Given the description of an element on the screen output the (x, y) to click on. 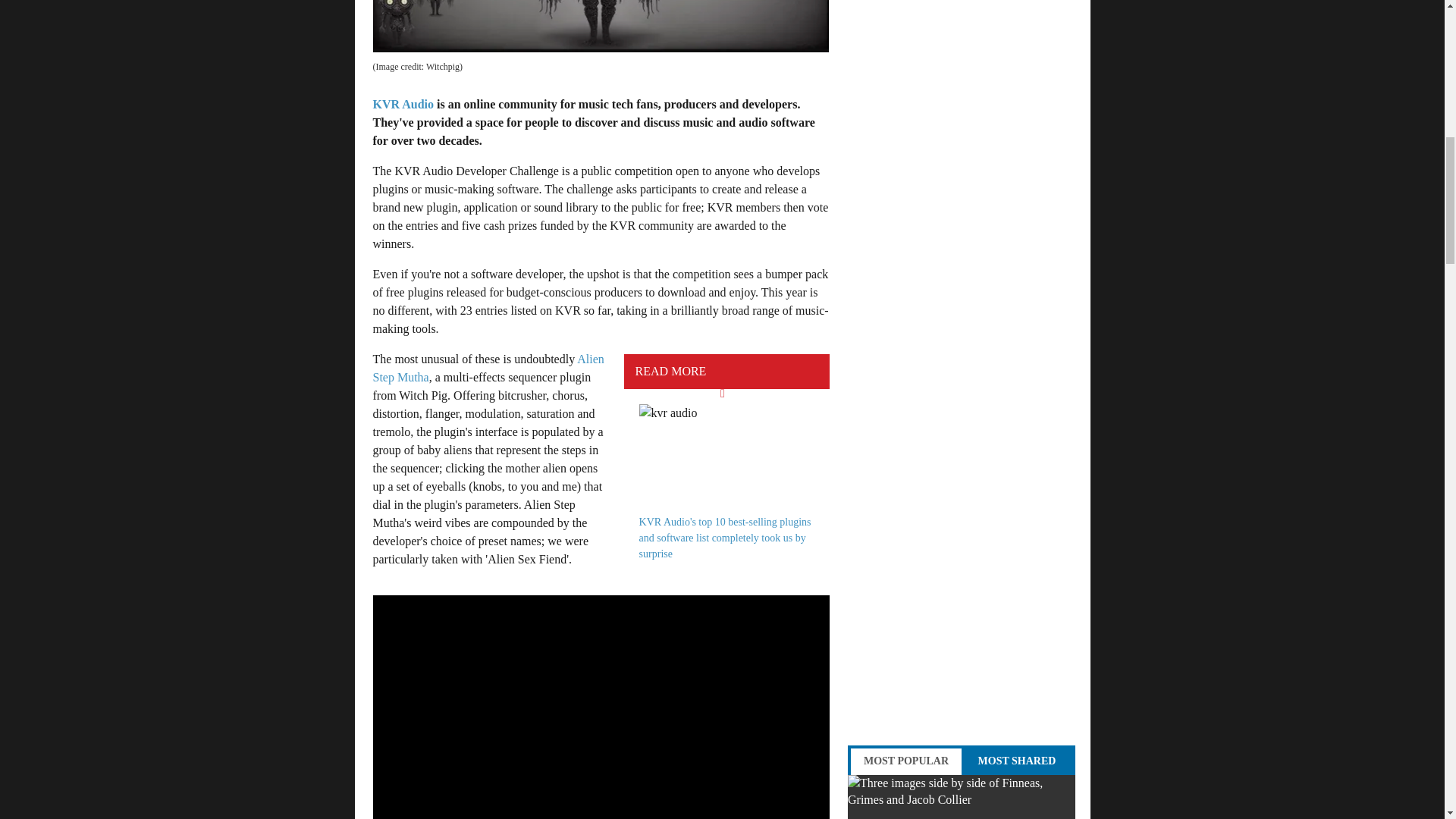
Which audio interfaces do the pros use? (961, 796)
